Given the description of an element on the screen output the (x, y) to click on. 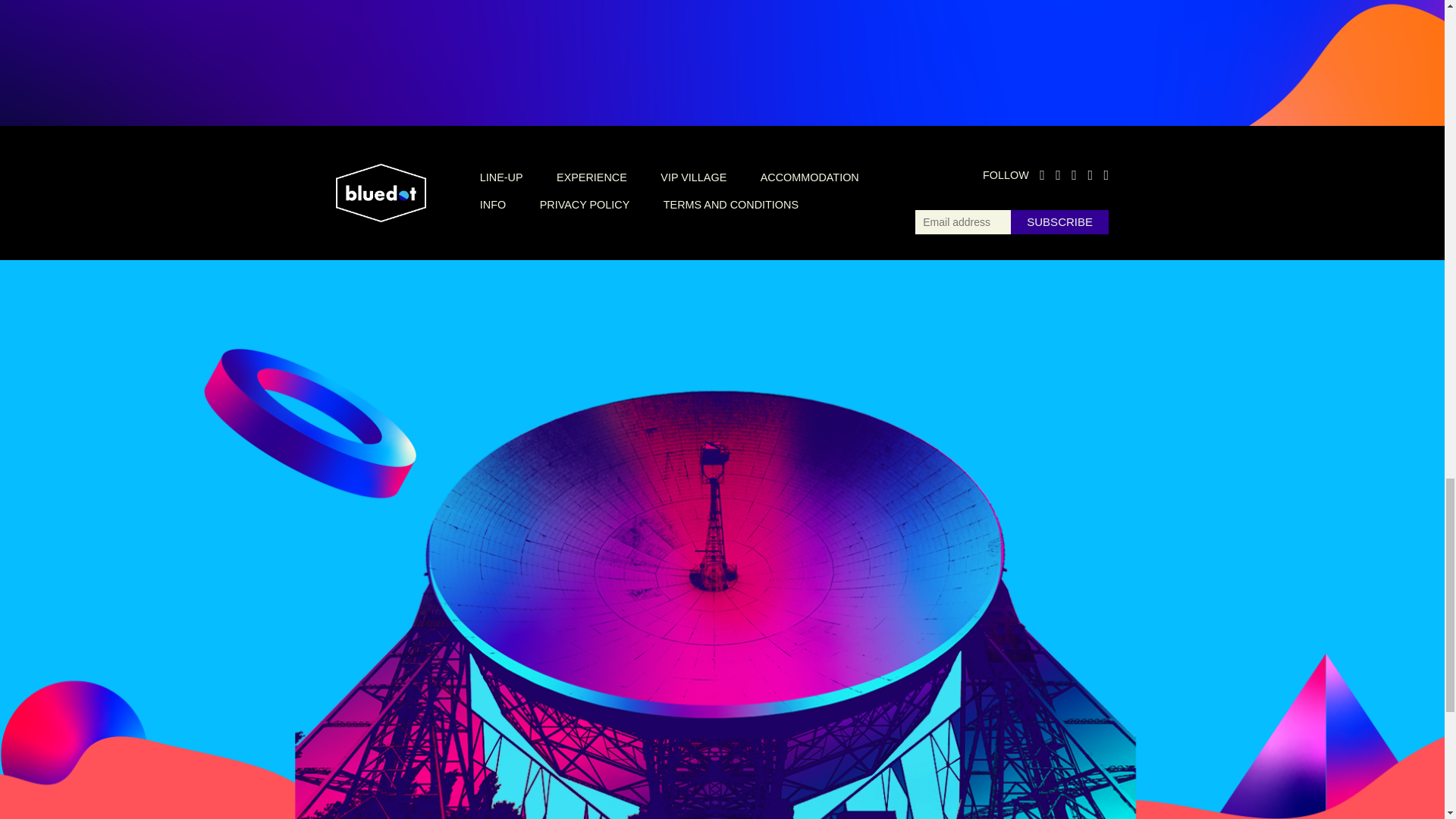
VIP VILLAGE (693, 177)
LINE-UP (501, 177)
SUBSCRIBE (1059, 221)
INFO (492, 204)
EXPERIENCE (591, 177)
ACCOMMODATION (809, 177)
PRIVACY POLICY (585, 204)
TERMS AND CONDITIONS (730, 204)
